Given the description of an element on the screen output the (x, y) to click on. 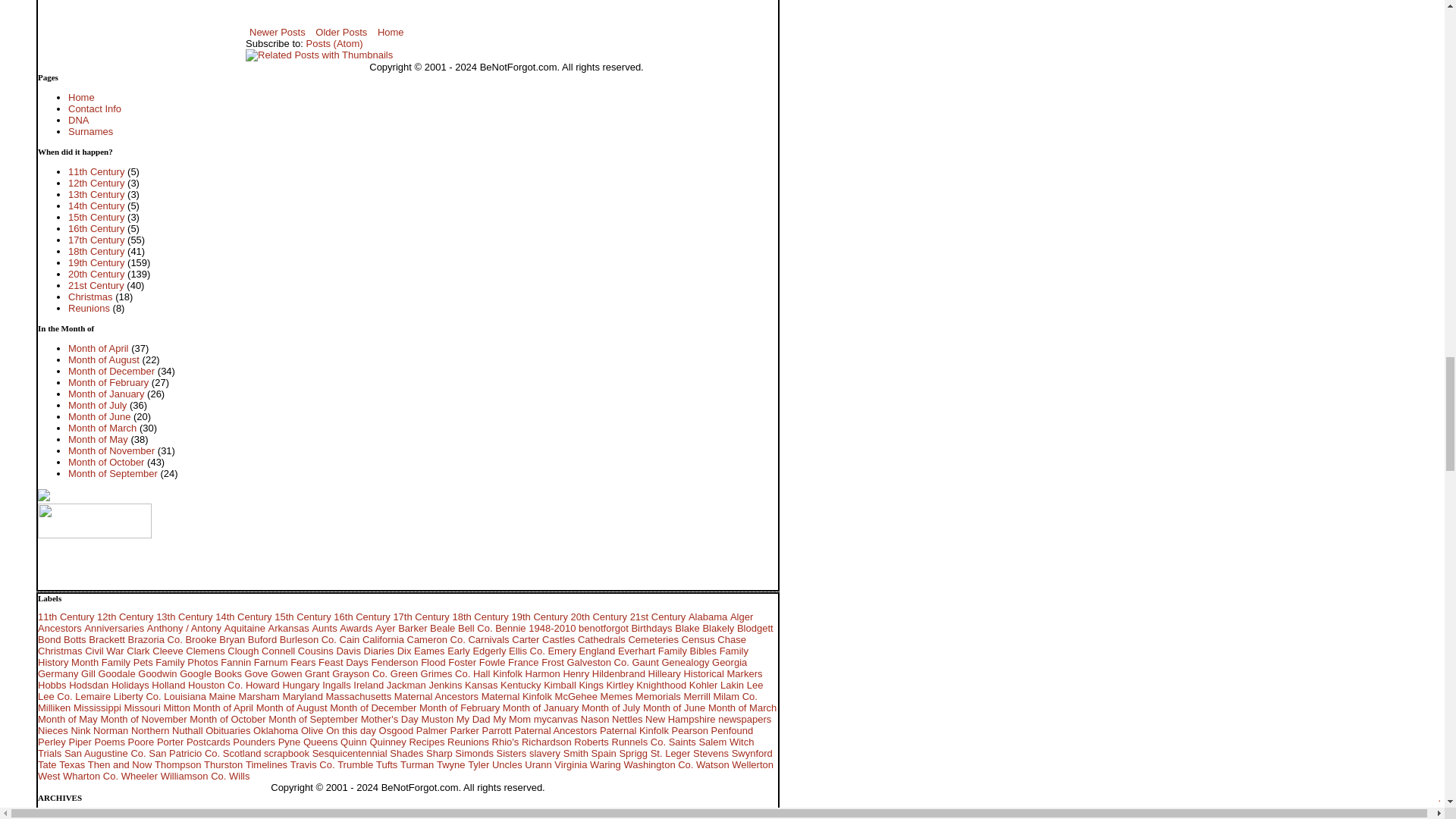
17th Century (95, 238)
11th Century (95, 170)
18th Century (95, 251)
Older Posts (341, 31)
21st Century (95, 284)
Newer Posts (277, 31)
19th Century (95, 261)
Newer Posts (277, 31)
15th Century (95, 215)
Contact Info (94, 108)
20th Century (95, 274)
12th Century (95, 183)
Christmas (90, 296)
Home (81, 96)
13th Century (95, 193)
